Given the description of an element on the screen output the (x, y) to click on. 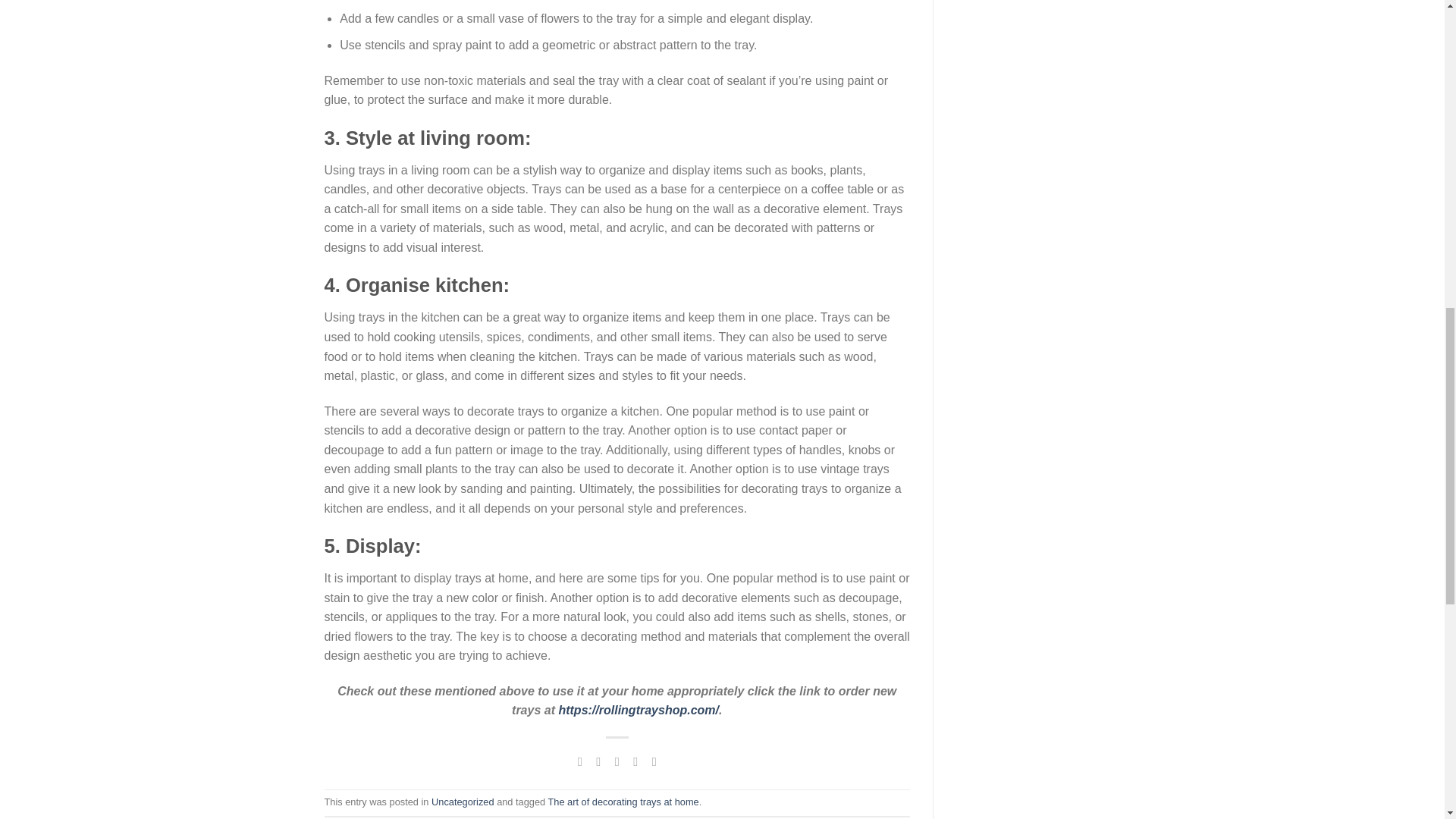
Share on Twitter (598, 760)
Share on Facebook (579, 760)
Email to a Friend (617, 760)
Pin on Pinterest (635, 760)
Share on LinkedIn (654, 760)
